Given the description of an element on the screen output the (x, y) to click on. 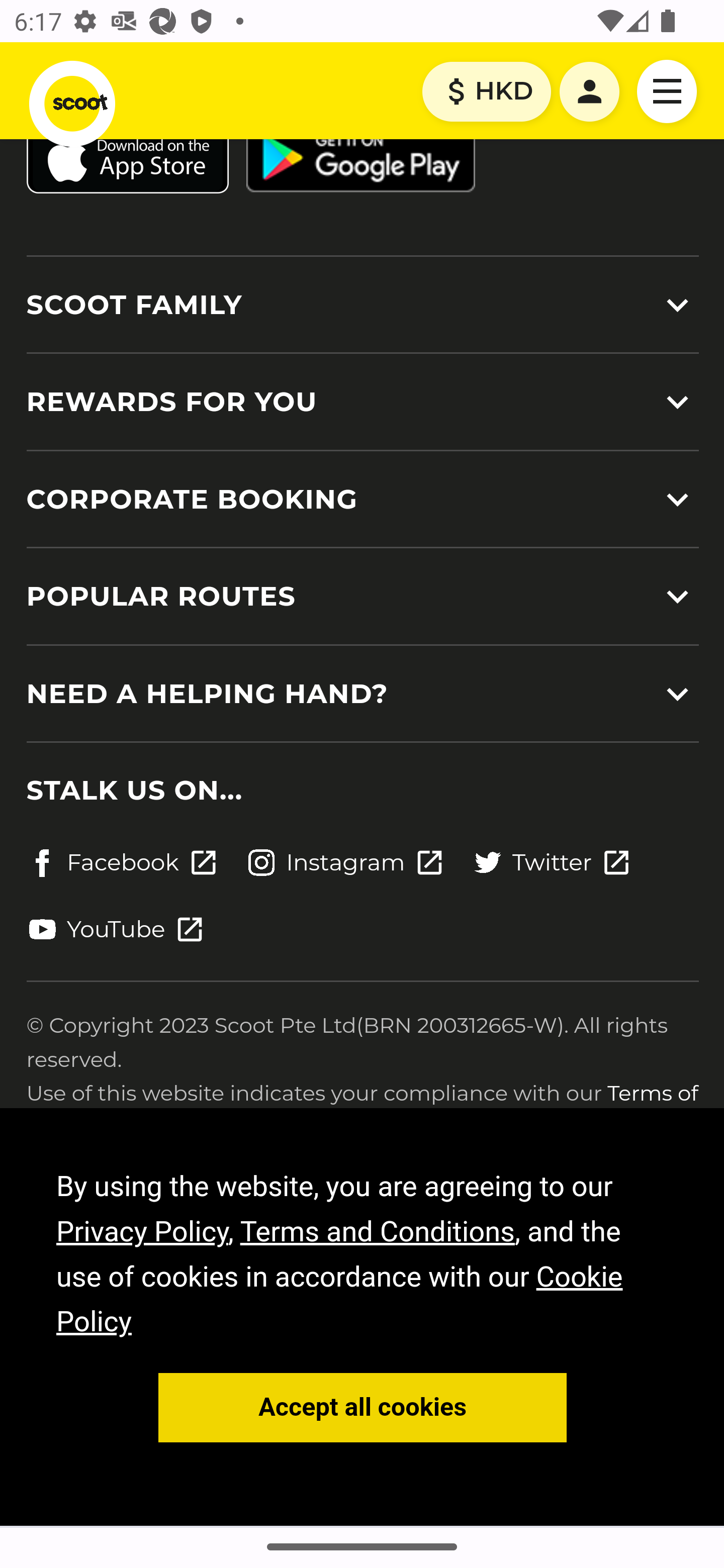
id898287610?pt=92295801&ct=flyscoot&mt=8 (126, 158)
googleplay (360, 158)
SCOOT FAMILY keyboard_arrow_down (362, 304)
REWARDS FOR YOU keyboard_arrow_down (362, 401)
CORPORATE BOOKING keyboard_arrow_down (362, 499)
POPULAR ROUTES keyboard_arrow_down (362, 597)
NEED A HELPING HAND? keyboard_arrow_down (362, 693)
Facebook open_in_new Facebook open_in_new (121, 862)
Instagram open_in_new Instagram open_in_new (345, 862)
Twitter open_in_new Twitter open_in_new (552, 862)
YouTube open_in_new YouTube open_in_new (115, 929)
Privacy Policy (142, 1230)
Terms and Conditions (377, 1230)
Cookie Policy (340, 1299)
Accept all cookies (362, 1407)
